Given the description of an element on the screen output the (x, y) to click on. 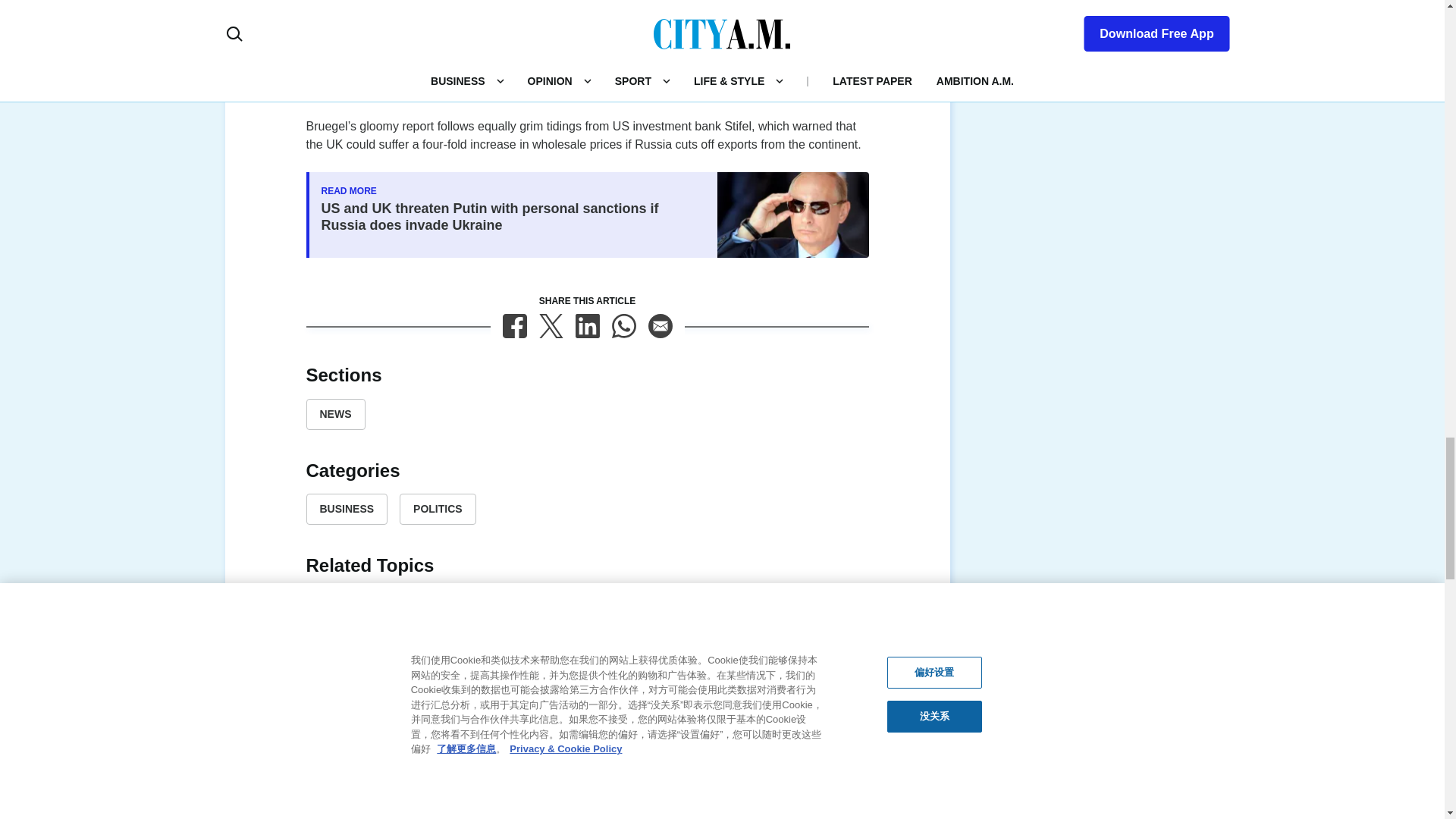
LinkedIn (586, 325)
X (550, 325)
WhatsApp (622, 325)
Facebook (513, 325)
Email (659, 325)
